Given the description of an element on the screen output the (x, y) to click on. 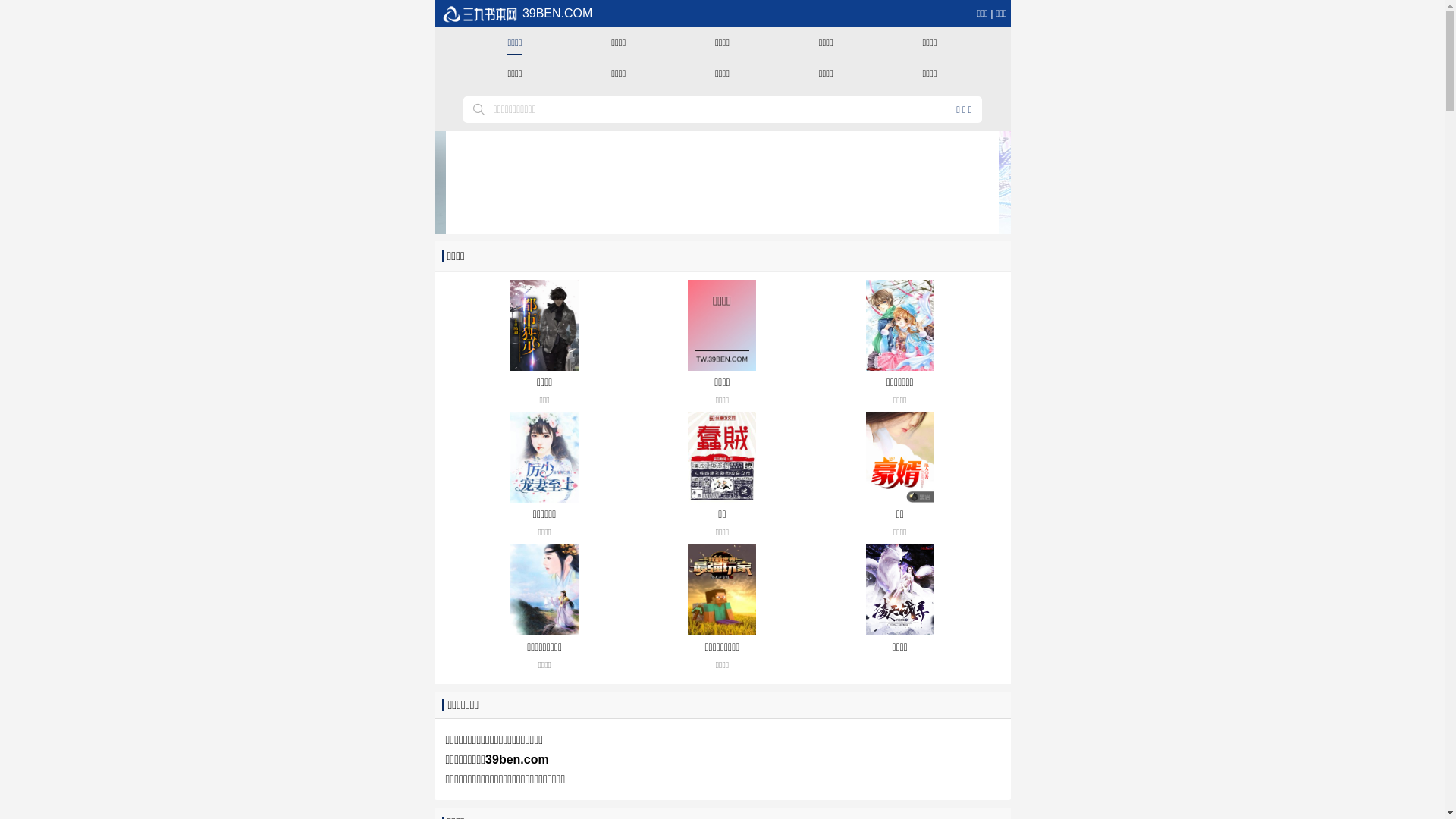
39BEN.COM Element type: text (516, 12)
